Given the description of an element on the screen output the (x, y) to click on. 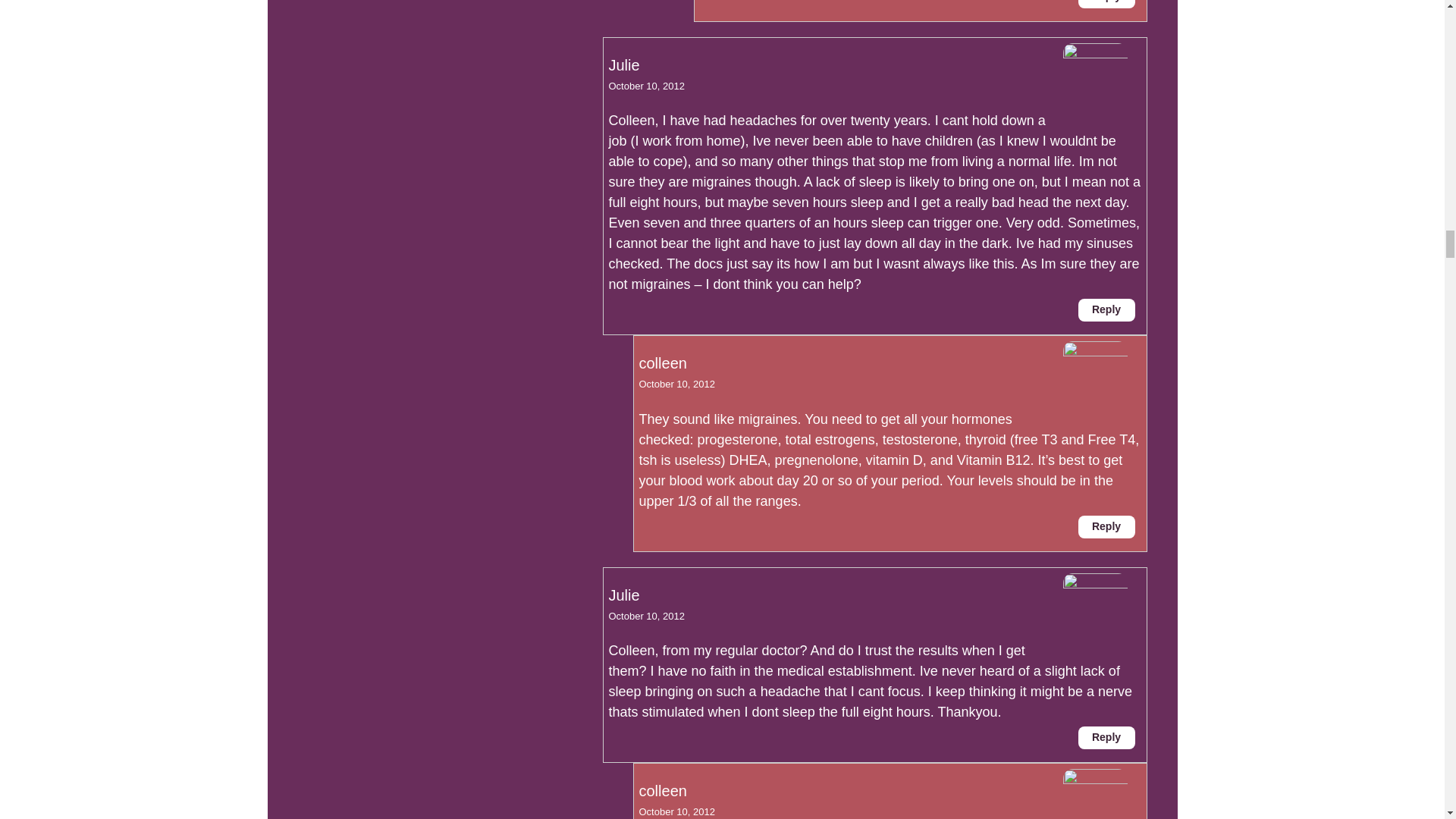
Reply (1106, 526)
Reply (1106, 309)
Reply (1106, 737)
Reply (1106, 4)
